Given the description of an element on the screen output the (x, y) to click on. 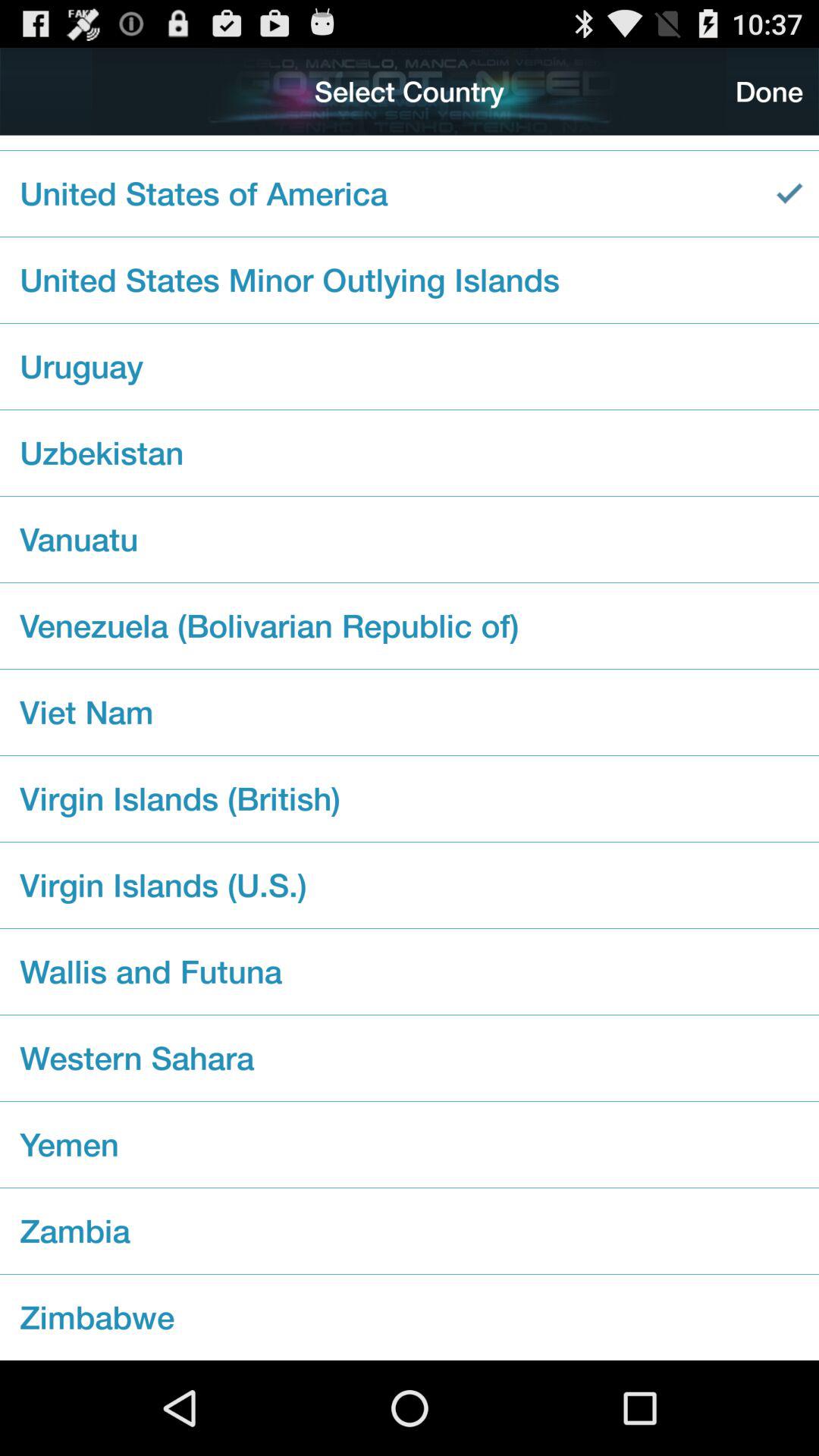
flip to the vanuatu (409, 539)
